Given the description of an element on the screen output the (x, y) to click on. 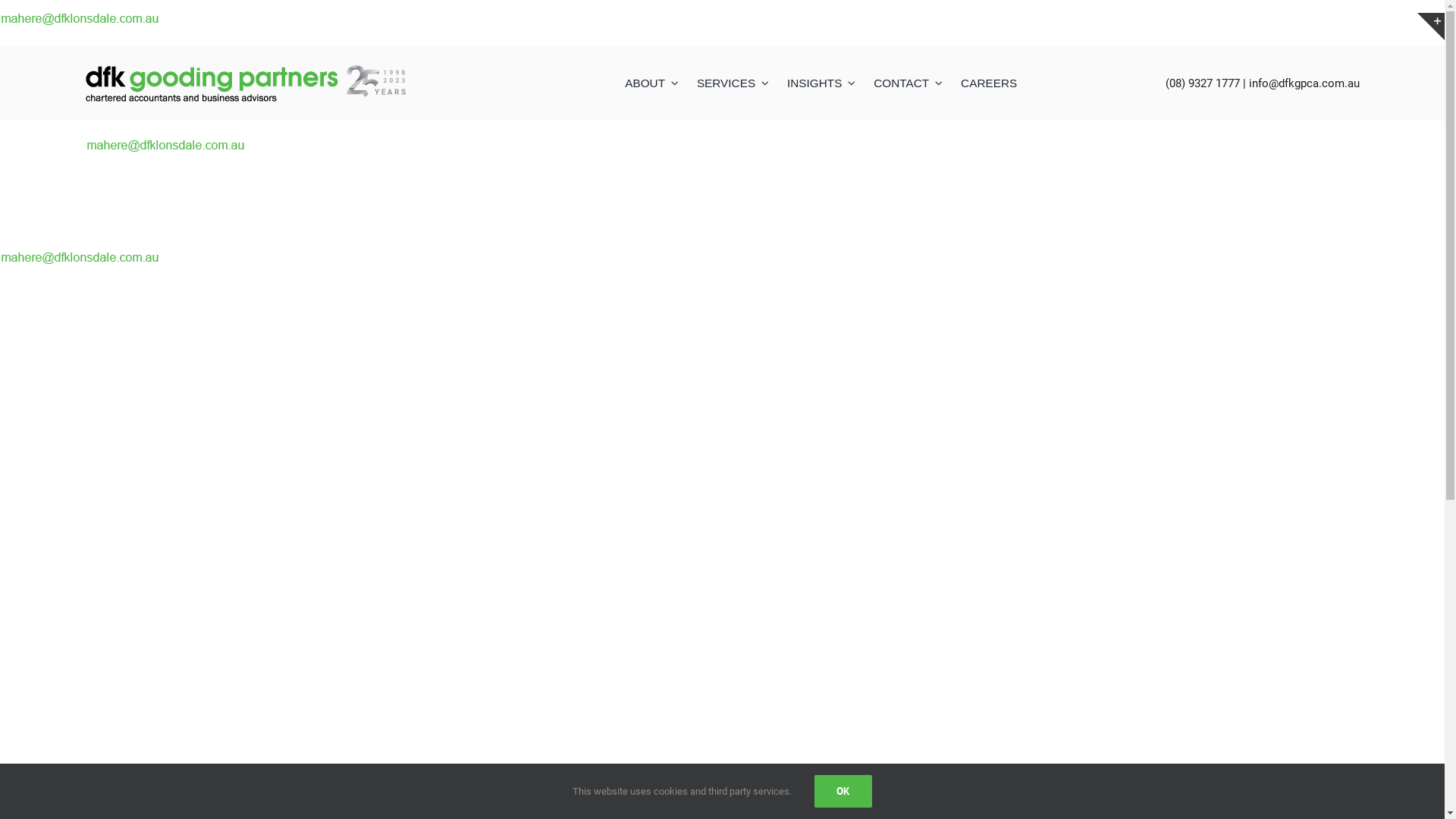
Toggle Sliding Bar Area Element type: text (1430, 26)
INSIGHTS Element type: text (821, 82)
info@dfkgpca.com.au Element type: text (1303, 82)
ABOUT Element type: text (650, 82)
CAREERS Element type: text (988, 82)
Website-25yrLogo-420-L Element type: hover (1150, 625)
OK Element type: text (843, 791)
CONTACT Element type: text (907, 82)
SERVICES Element type: text (732, 82)
